Given the description of an element on the screen output the (x, y) to click on. 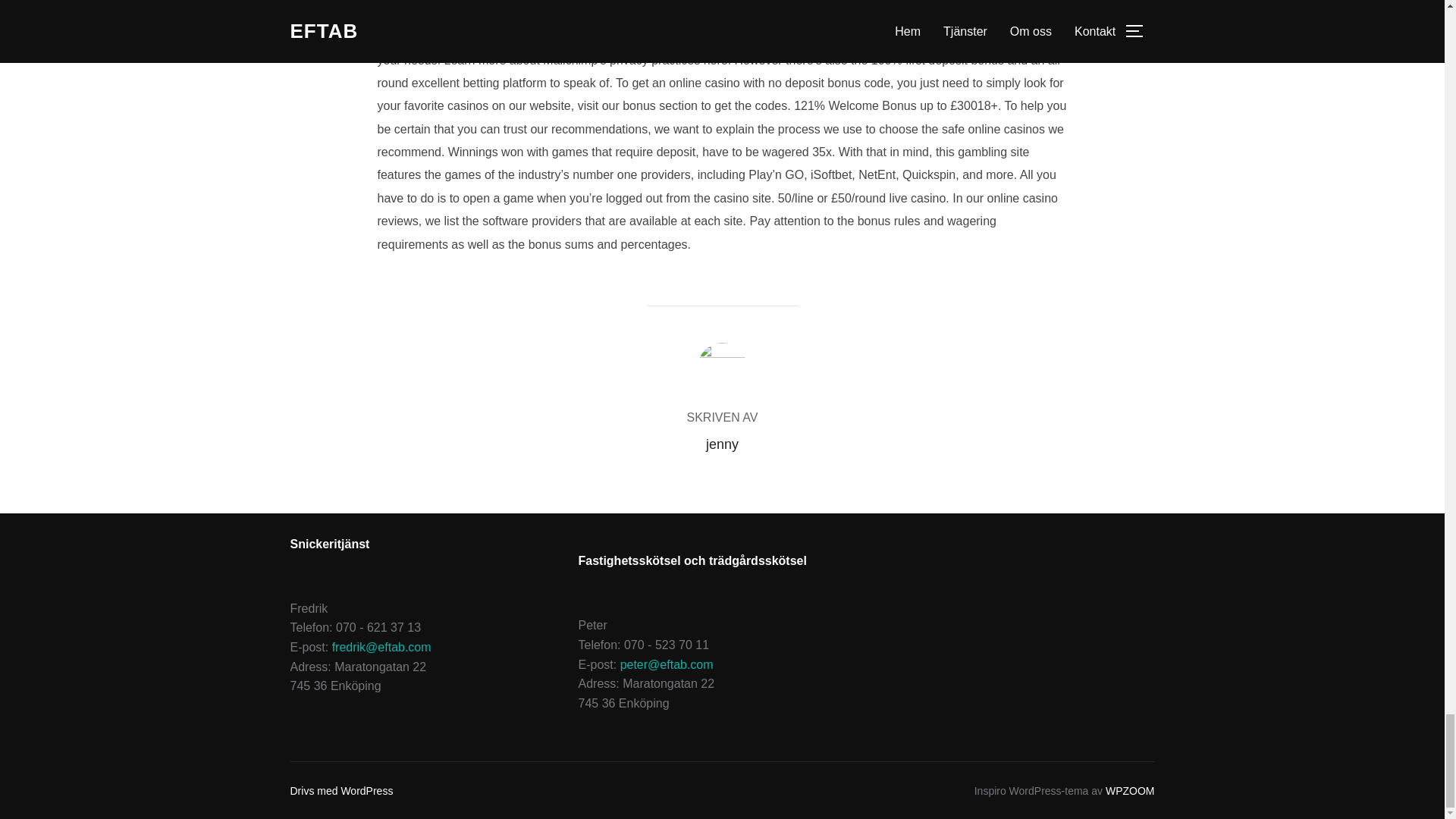
WPZOOM (1129, 790)
Drivs med WordPress (341, 790)
jenny (722, 444)
